Given the description of an element on the screen output the (x, y) to click on. 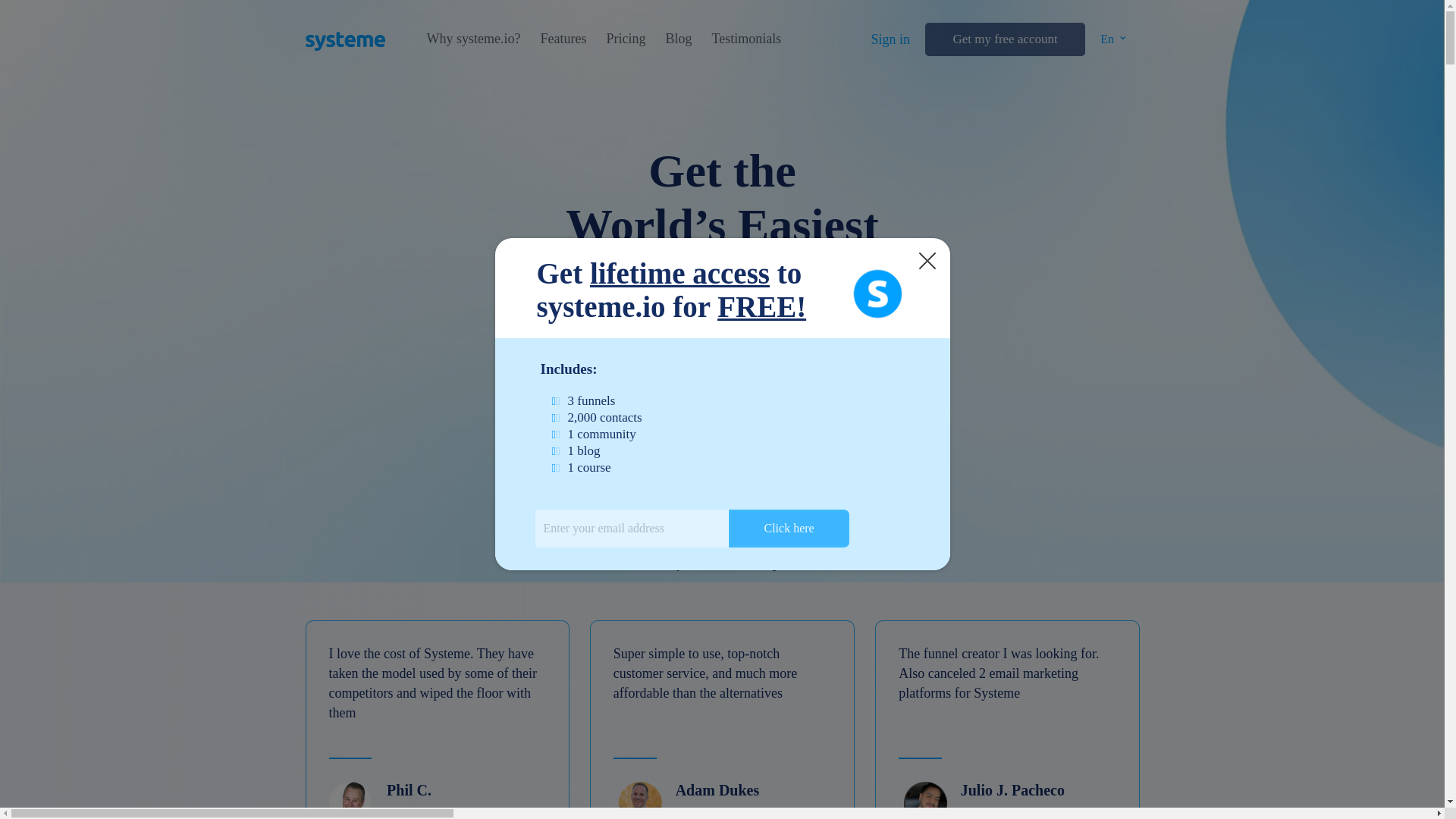
Pricing (625, 38)
Features (563, 38)
Sign in (890, 39)
Blog (678, 38)
Get my free account (1004, 39)
Why systeme.io? (472, 38)
Testimonials (745, 38)
